Given the description of an element on the screen output the (x, y) to click on. 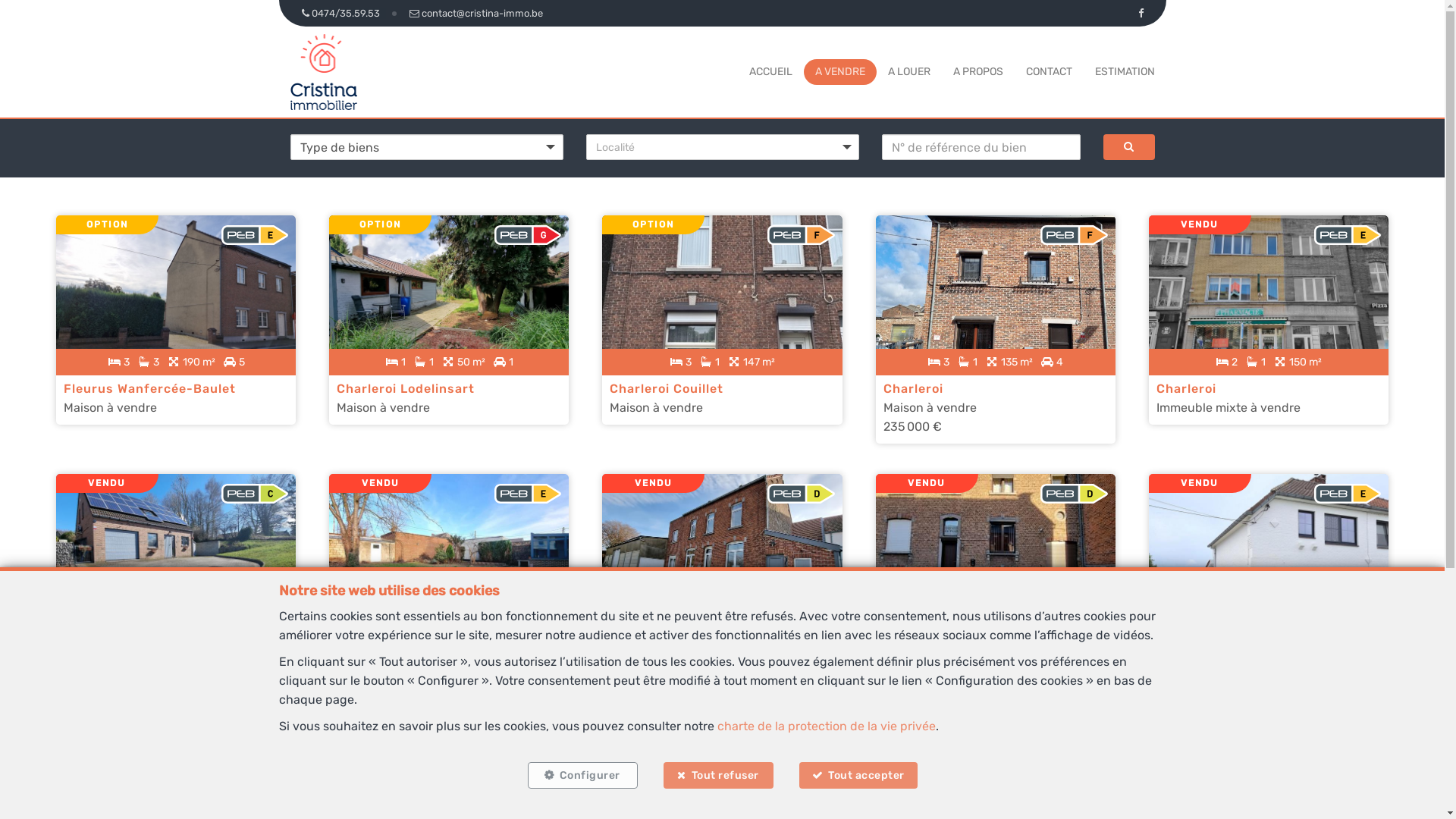
contact@cristina-immo.be Element type: text (475, 13)
ACCUEIL Element type: text (770, 71)
A LOUER Element type: text (908, 71)
A PROPOS Element type: text (977, 71)
Configurer Element type: text (582, 775)
ESTIMATION Element type: text (1124, 71)
Tout accepter Element type: text (858, 775)
CONTACT Element type: text (1048, 71)
Tout refuser Element type: text (717, 775)
A VENDRE Element type: text (839, 71)
0474/35.59.53 Element type: text (342, 13)
